Given the description of an element on the screen output the (x, y) to click on. 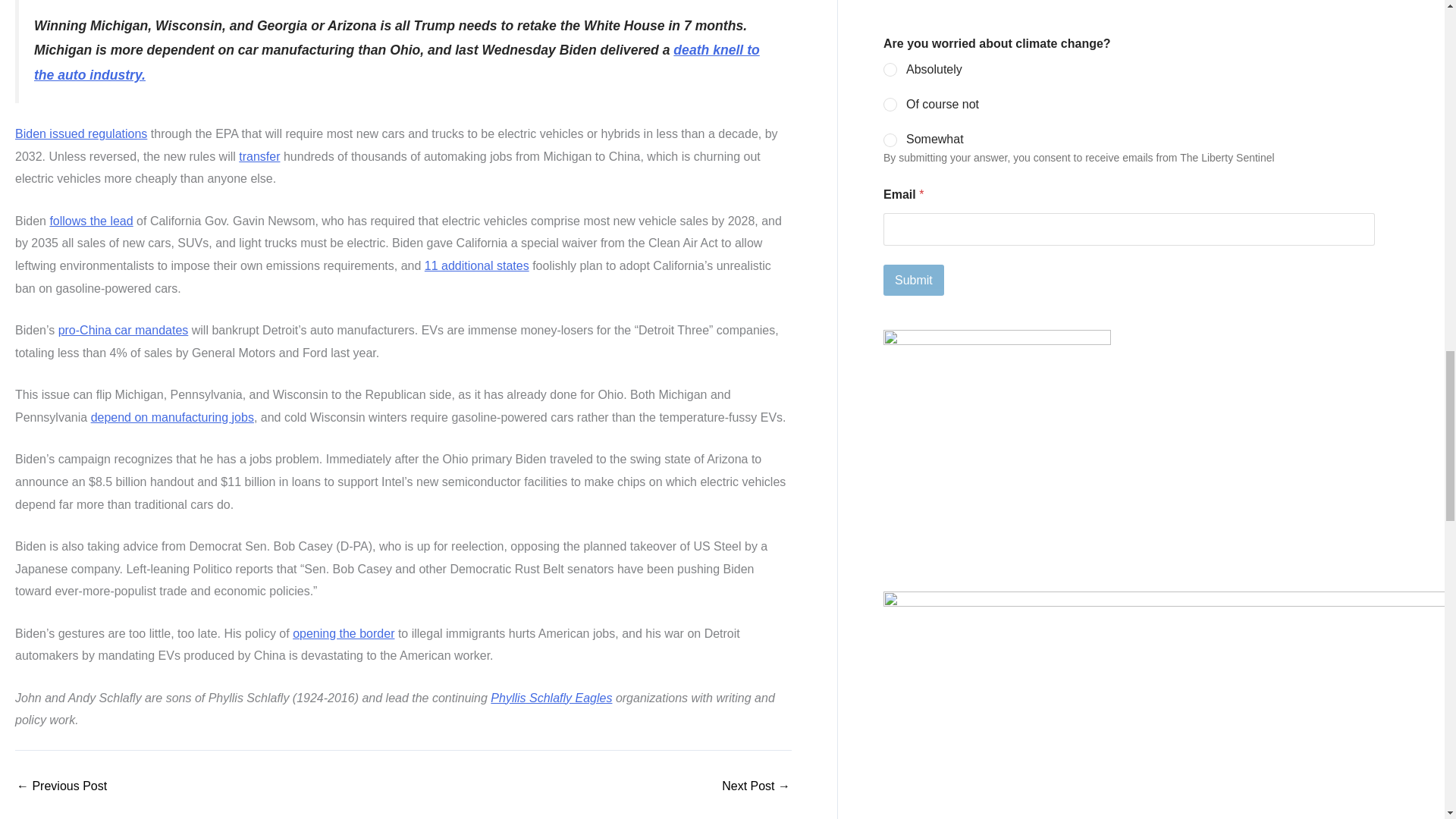
Somewhat (890, 141)
Of course not (890, 105)
Absolutely (890, 70)
